Given the description of an element on the screen output the (x, y) to click on. 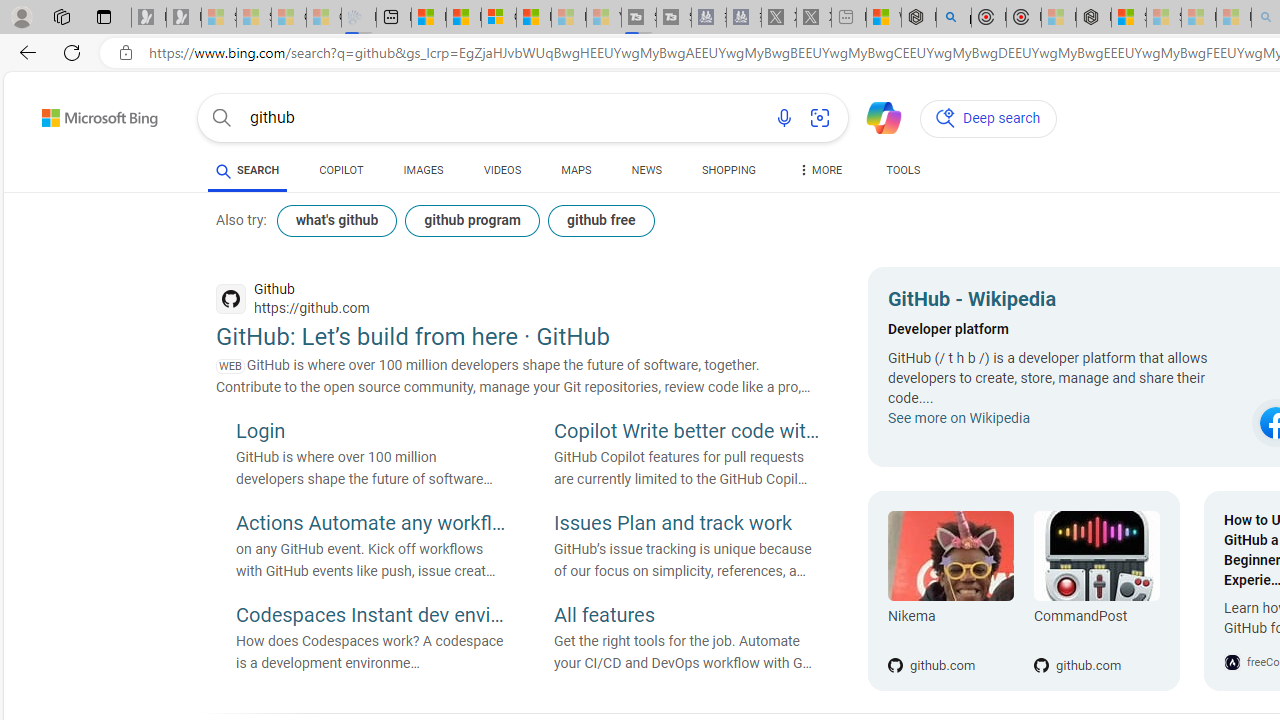
X - Sleeping (813, 17)
TOOLS (903, 173)
VIDEOS (501, 173)
MORE (819, 173)
SHOPPING (728, 170)
Login (370, 433)
MAPS (576, 170)
NEWS (646, 173)
github program (471, 220)
SEARCH (247, 170)
Nordace - Nordace Siena Is Not An Ordinary Backpack (1093, 17)
what's github (336, 220)
